Given the description of an element on the screen output the (x, y) to click on. 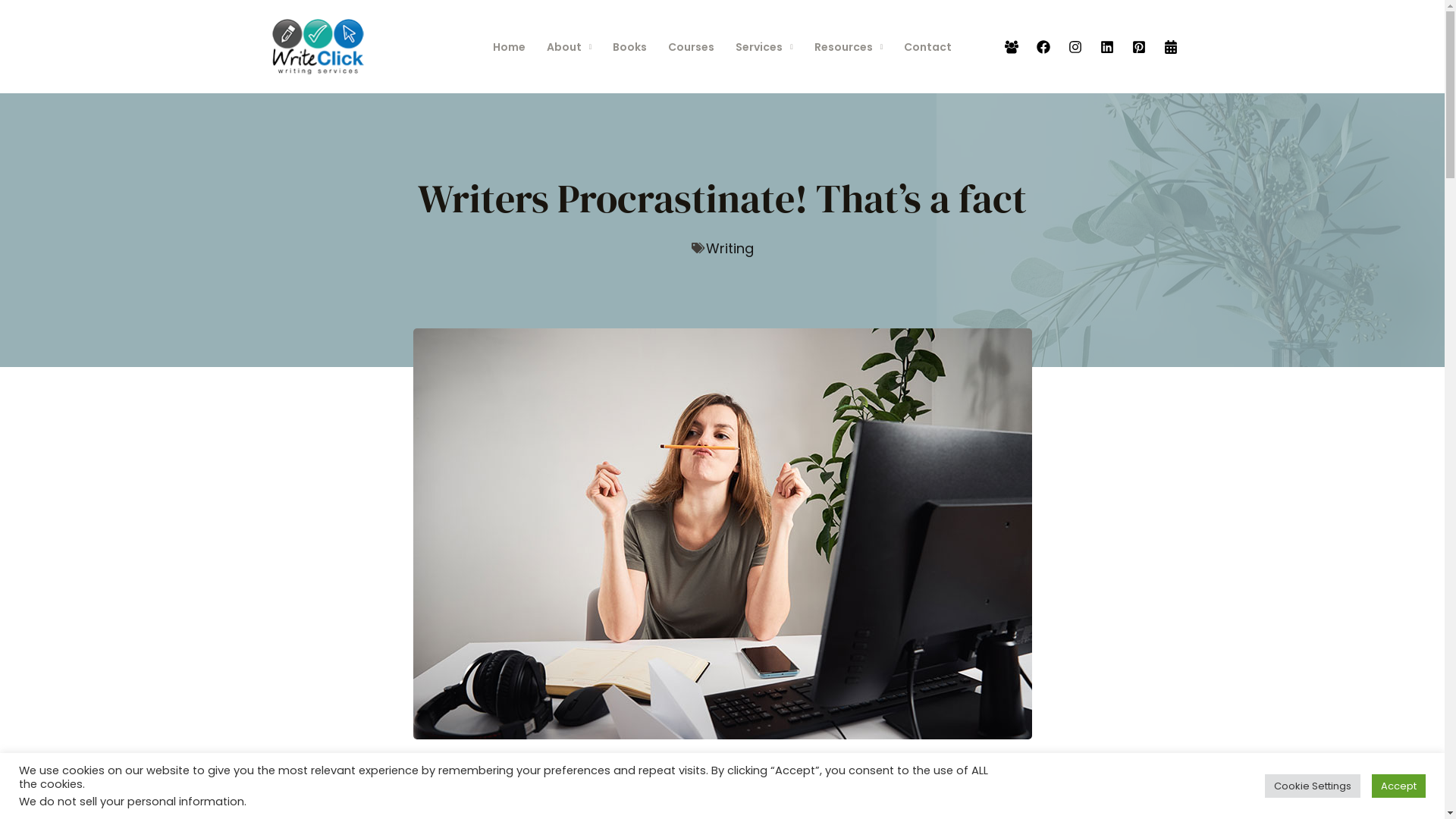
Cookie Settings Element type: text (1312, 785)
Home Element type: text (509, 46)
Courses Element type: text (690, 46)
About Element type: text (569, 46)
Accept Element type: text (1398, 785)
Books Element type: text (629, 46)
Contact Element type: text (927, 46)
Services Element type: text (763, 46)
Resources Element type: text (848, 46)
Writing Element type: text (729, 247)
